Given the description of an element on the screen output the (x, y) to click on. 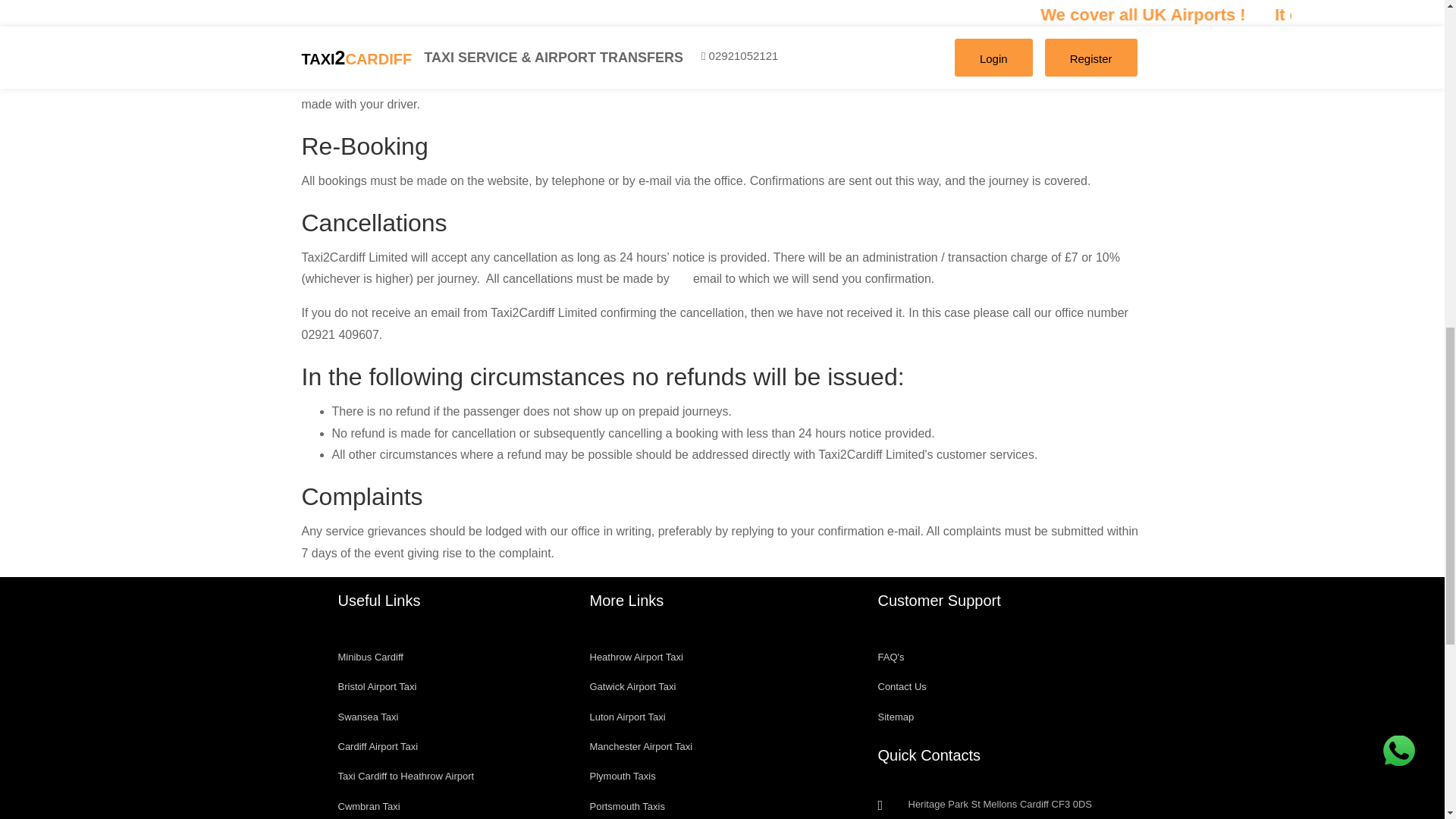
Portsmouth Taxis (722, 805)
Gatwick Airport Taxi (722, 686)
Swansea Taxi (452, 716)
Heathrow Airport Taxi (722, 656)
Plymouth Taxis (722, 776)
Cardiff Airport Taxi (452, 746)
Manchester Airport Taxi (722, 746)
Cwmbran Taxi (452, 805)
Taxi Cardiff to Heathrow Airport (452, 776)
Bristol Airport Taxi (452, 686)
Luton Airport Taxi (722, 716)
FAQ's (1009, 656)
Minibus Cardiff (452, 656)
